Given the description of an element on the screen output the (x, y) to click on. 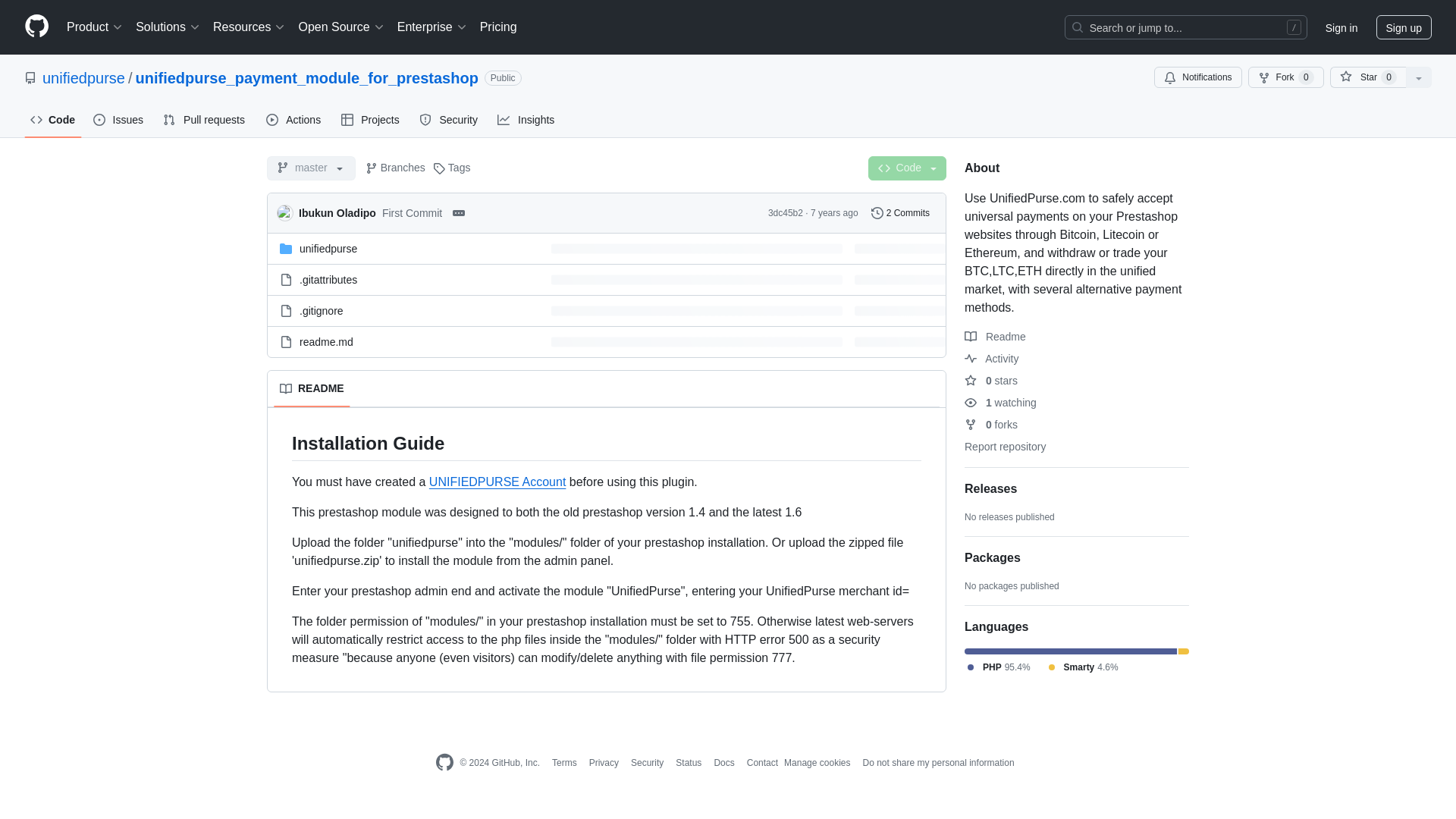
.gitignore (321, 310)
Ibukun Oladipo (336, 212)
0 (1306, 77)
readme.md (326, 340)
0 (1388, 77)
Solutions (167, 27)
Product (95, 27)
unifiedpurse (327, 248)
Open Source (341, 27)
.gitattributes (327, 278)
Resources (249, 27)
